Given the description of an element on the screen output the (x, y) to click on. 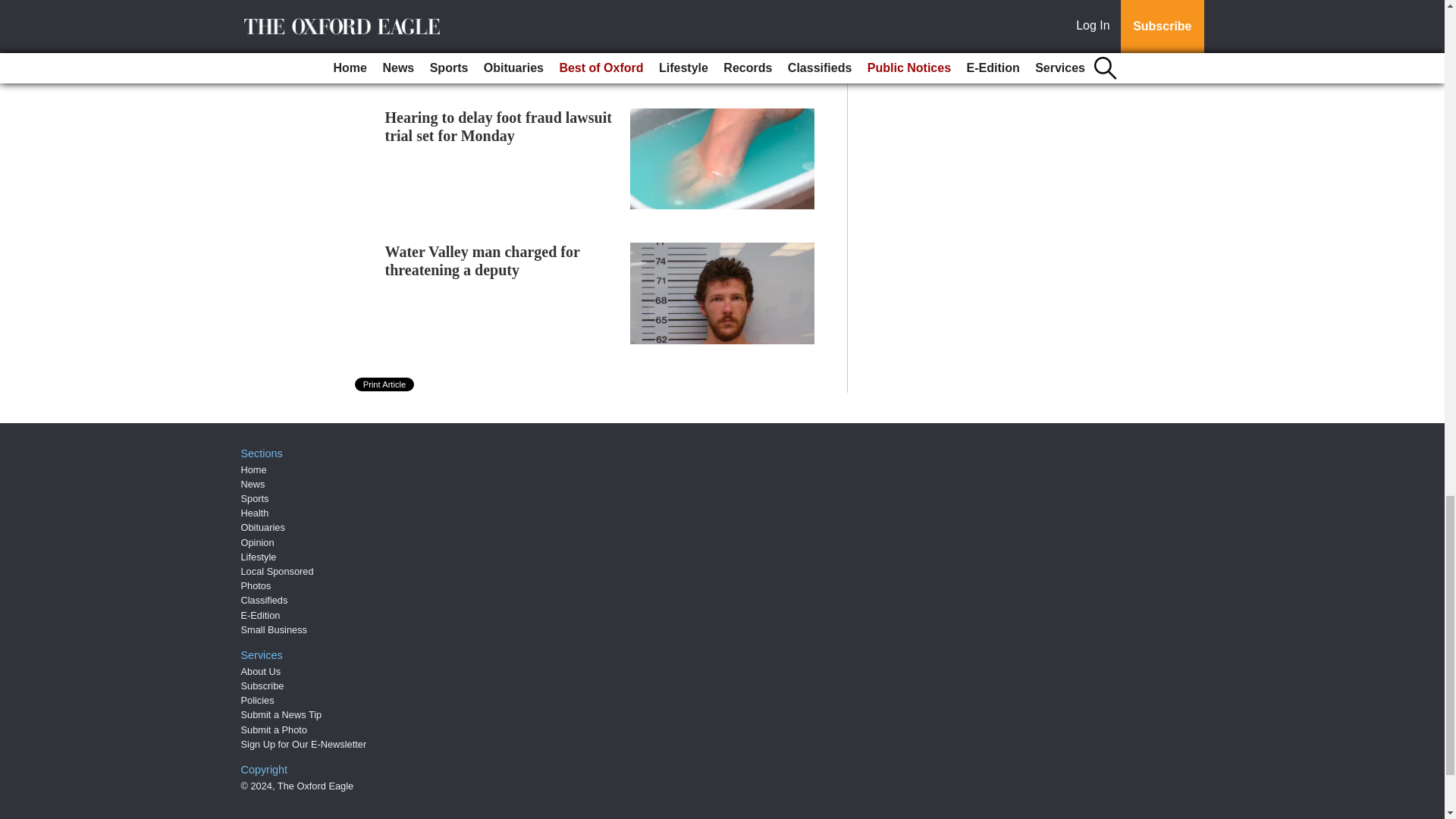
Hearing to delay foot fraud lawsuit trial set for Monday (498, 126)
Print Article (384, 384)
Hearing to delay foot fraud lawsuit trial set for Monday (498, 126)
Water Valley man charged for threatening a deputy (482, 260)
Water Valley man charged for threatening a deputy (482, 260)
